Given the description of an element on the screen output the (x, y) to click on. 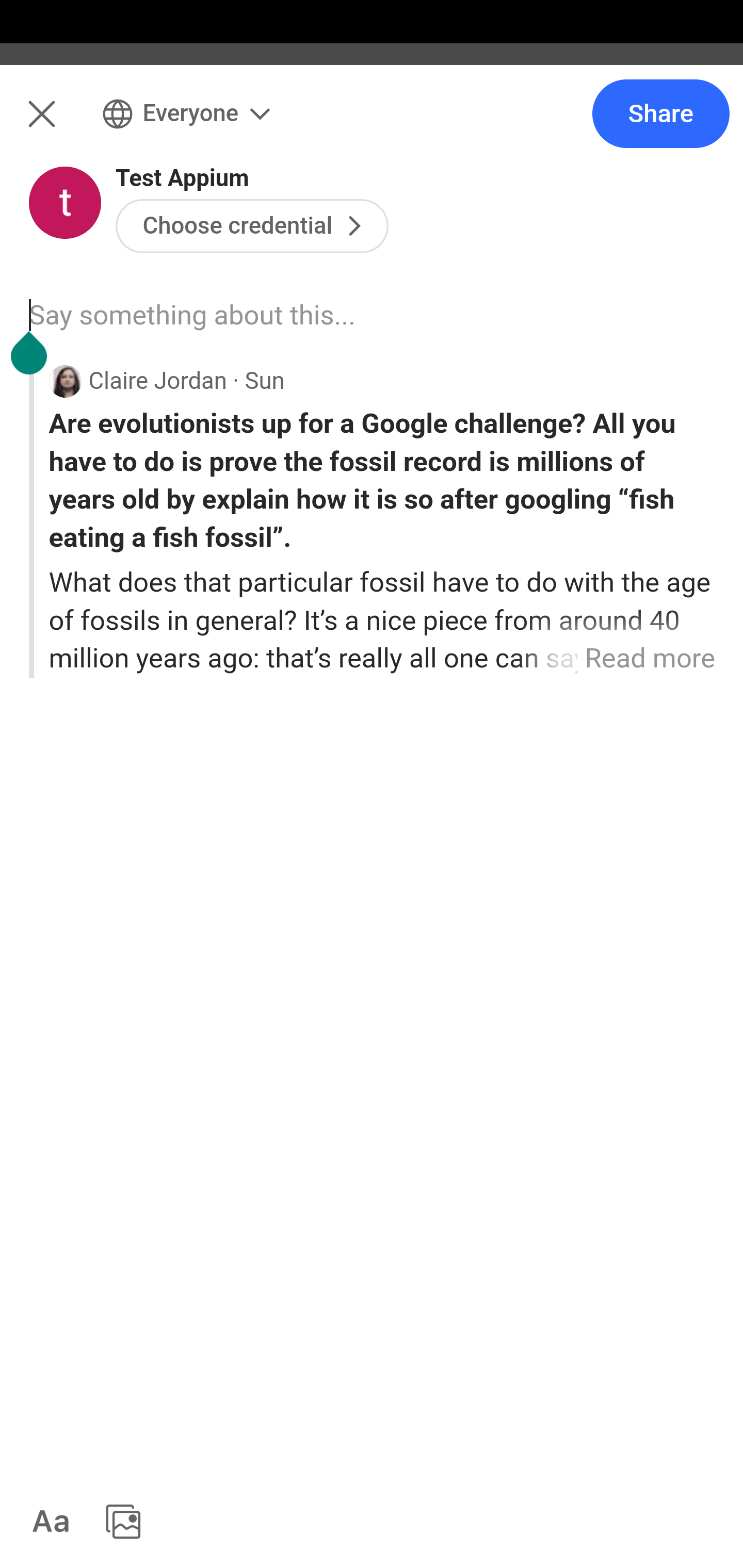
Me Home Search Add (371, 125)
